Given the description of an element on the screen output the (x, y) to click on. 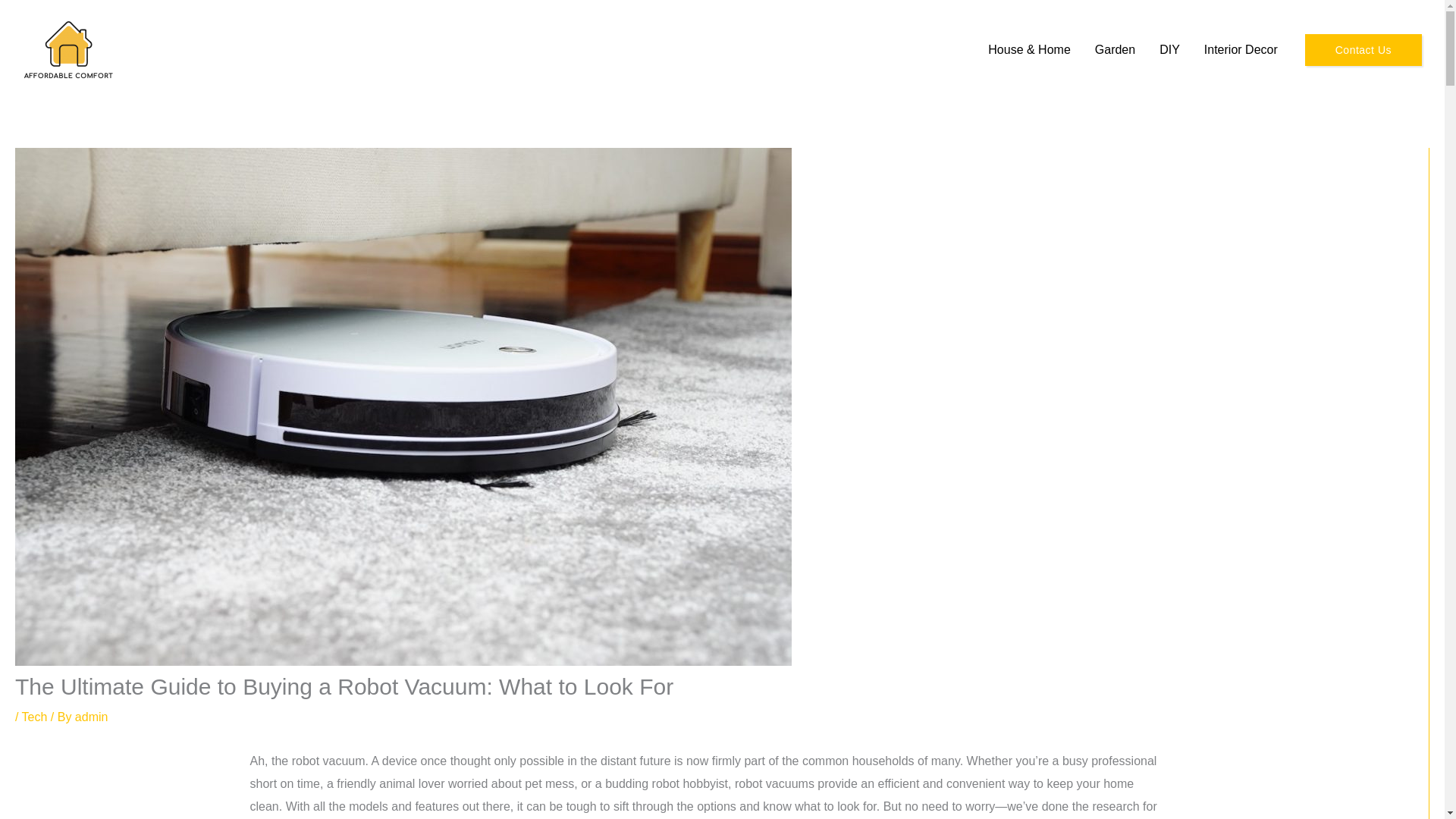
admin (91, 716)
Tech (34, 716)
Interior Decor (1241, 49)
Garden (1115, 49)
View all posts by admin (91, 716)
Contact Us (1363, 49)
DIY (1169, 49)
